Given the description of an element on the screen output the (x, y) to click on. 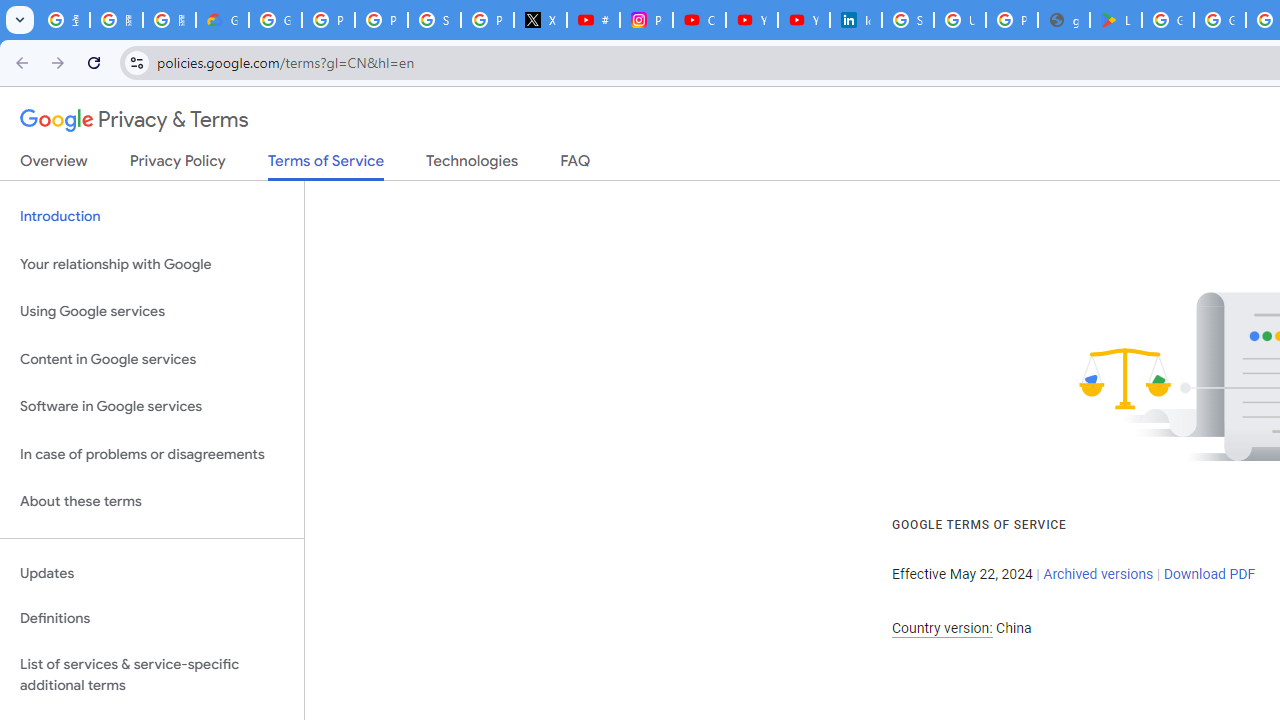
#nbabasketballhighlights - YouTube (593, 20)
Software in Google services (152, 407)
About these terms (152, 502)
Sign in - Google Accounts (907, 20)
Google Workspace - Specific Terms (1219, 20)
Google Cloud Privacy Notice (222, 20)
In case of problems or disagreements (152, 453)
Sign in - Google Accounts (434, 20)
Content in Google services (152, 358)
Last Shelter: Survival - Apps on Google Play (1115, 20)
